Given the description of an element on the screen output the (x, y) to click on. 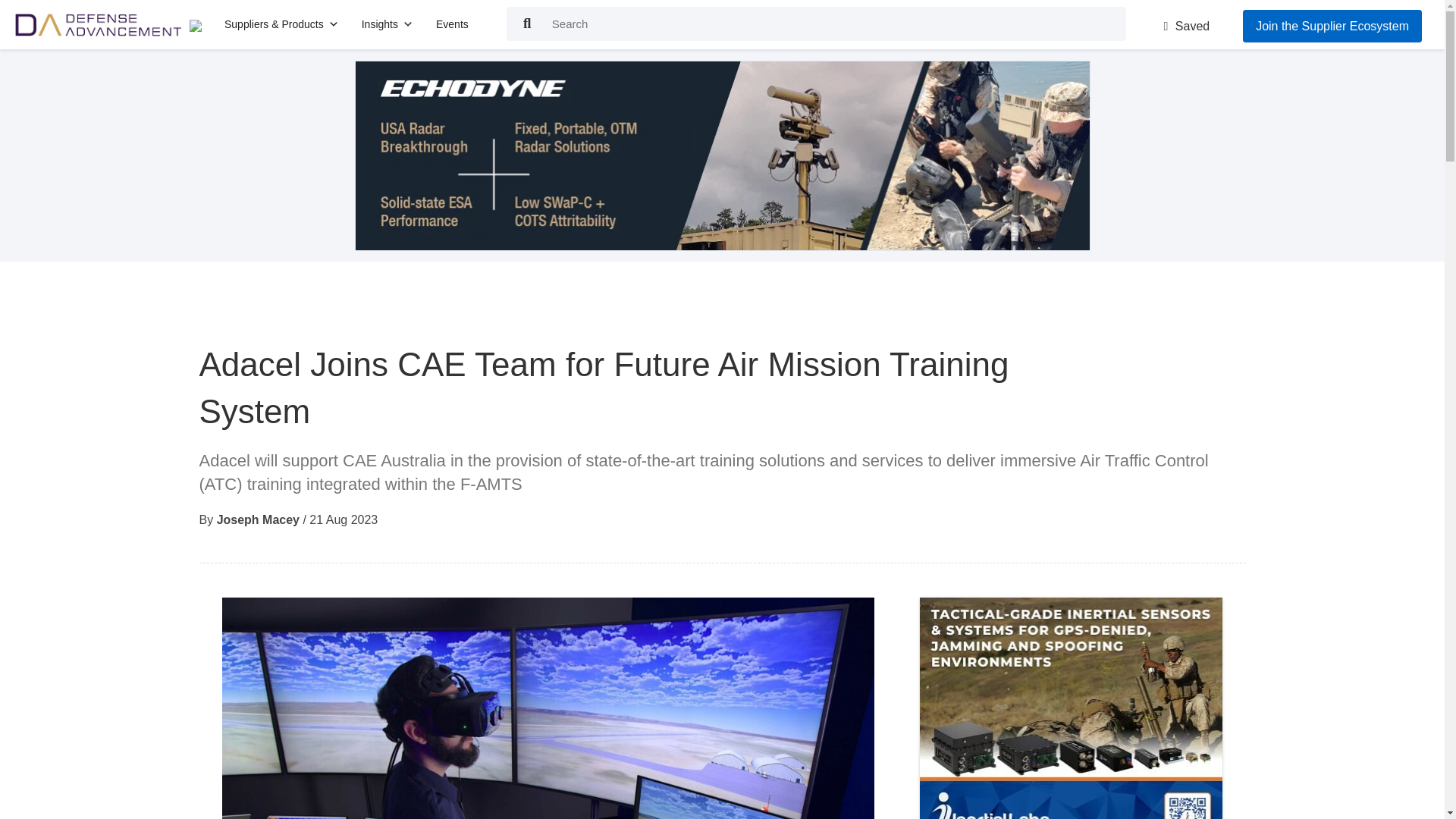
Insights (386, 24)
Join the Supplier Ecosystem (1332, 25)
Events (452, 24)
Saved (1186, 25)
